Given the description of an element on the screen output the (x, y) to click on. 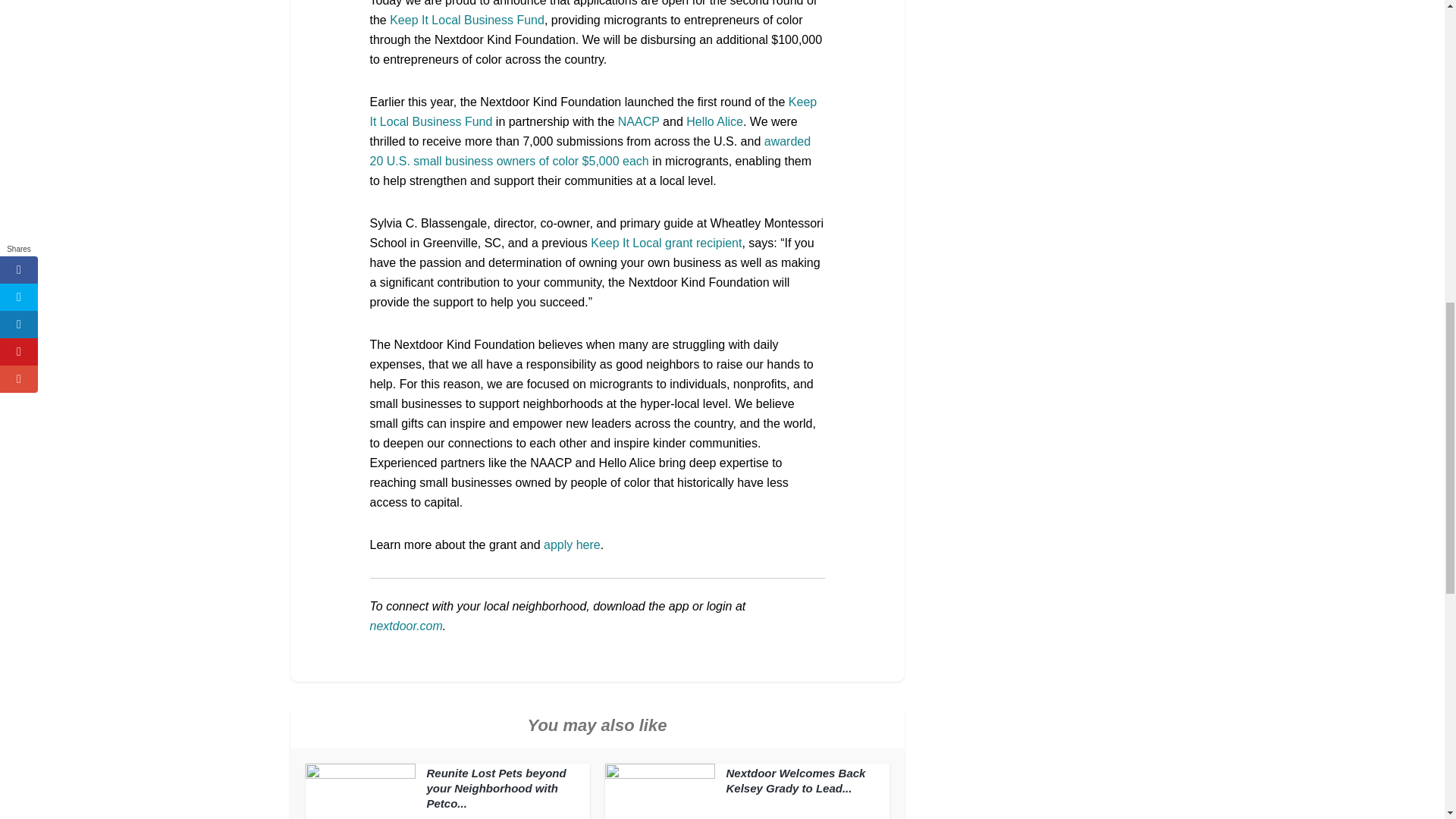
Reunite Lost Pets beyond your Neighborhood with Petco... (496, 787)
Keep It Local Business Fund (467, 19)
apply here (571, 544)
Reunite Lost Pets beyond your Neighborhood with Petco Love (496, 787)
nextdoor.com (405, 625)
Keep It Local Business Fund (592, 111)
NAACP (638, 121)
Hello Alice (713, 121)
Nextdoor Welcomes Back Kelsey Grady to Lead... (796, 780)
Keep It Local grant recipient (666, 242)
